Given the description of an element on the screen output the (x, y) to click on. 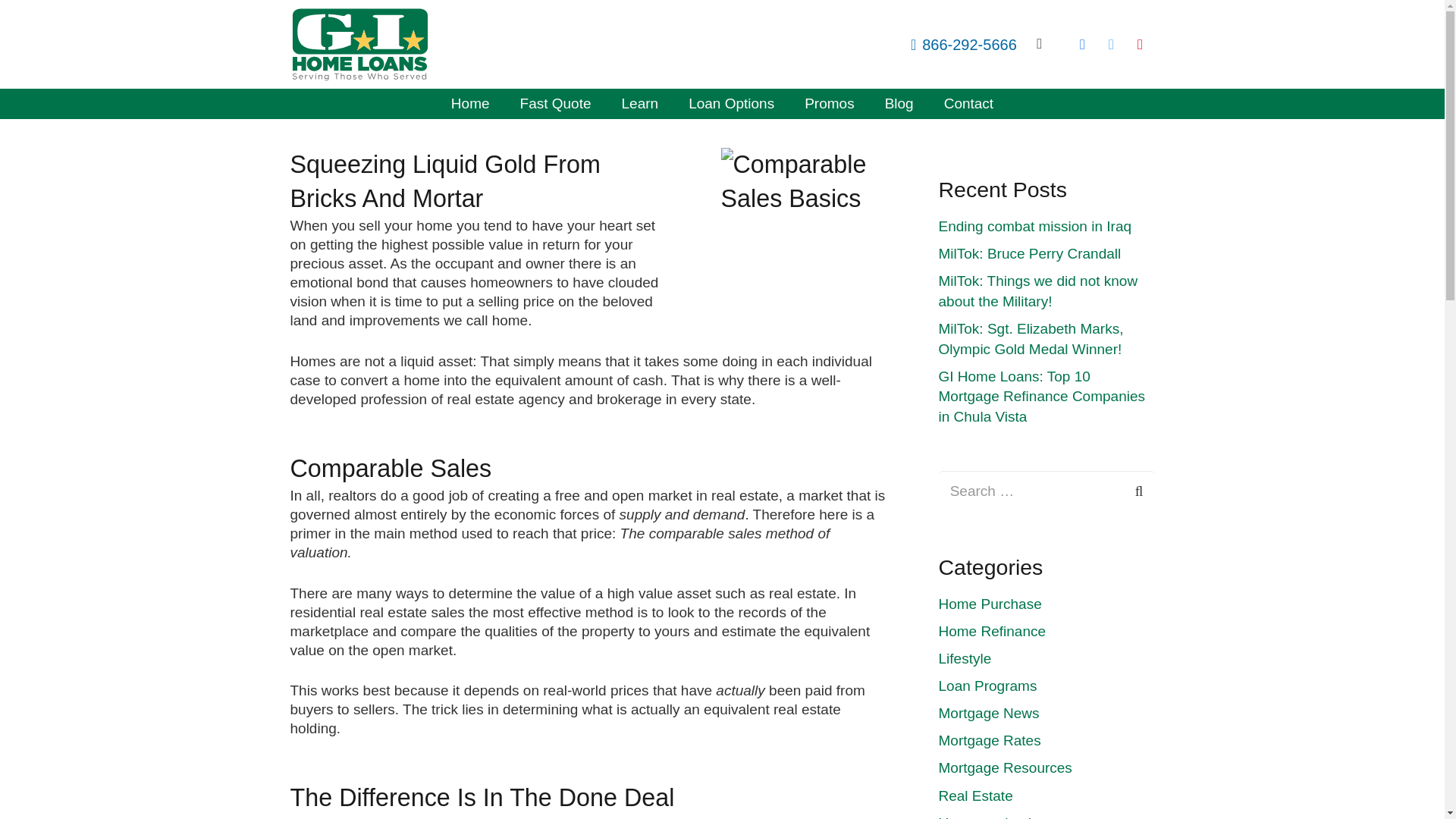
Facebook (1081, 44)
Loan Options (730, 103)
Home (470, 103)
Twitter (1110, 44)
Learn (640, 103)
Promos (829, 103)
Fast Quote (556, 103)
Pinterest (1139, 44)
866-292-5666 (963, 44)
